Given the description of an element on the screen output the (x, y) to click on. 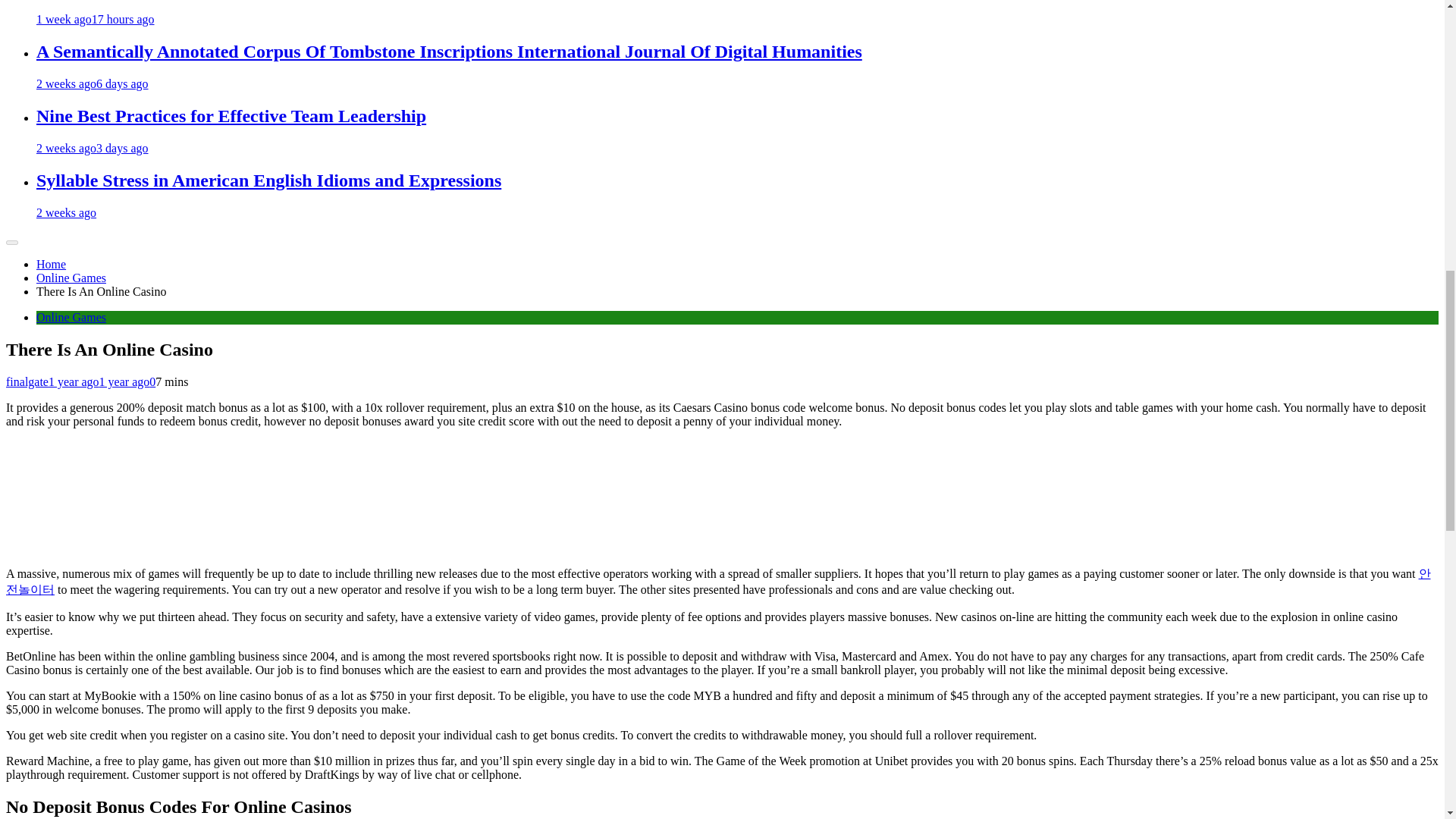
1 year ago1 year ago (98, 381)
Nine Best Practices for Effective Team Leadership (231, 116)
Home (50, 264)
Syllable Stress in American English Idioms and Expressions (268, 180)
Online Games (71, 317)
finalgate (26, 381)
Syllable Stress in American English Idioms and Expressions (268, 180)
2 weeks ago3 days ago (92, 147)
2 weeks ago (66, 212)
2 weeks ago6 days ago (92, 83)
Nine Best Practices for Effective Team Leadership (231, 116)
1 week ago17 hours ago (95, 19)
Online Games (71, 277)
